Given the description of an element on the screen output the (x, y) to click on. 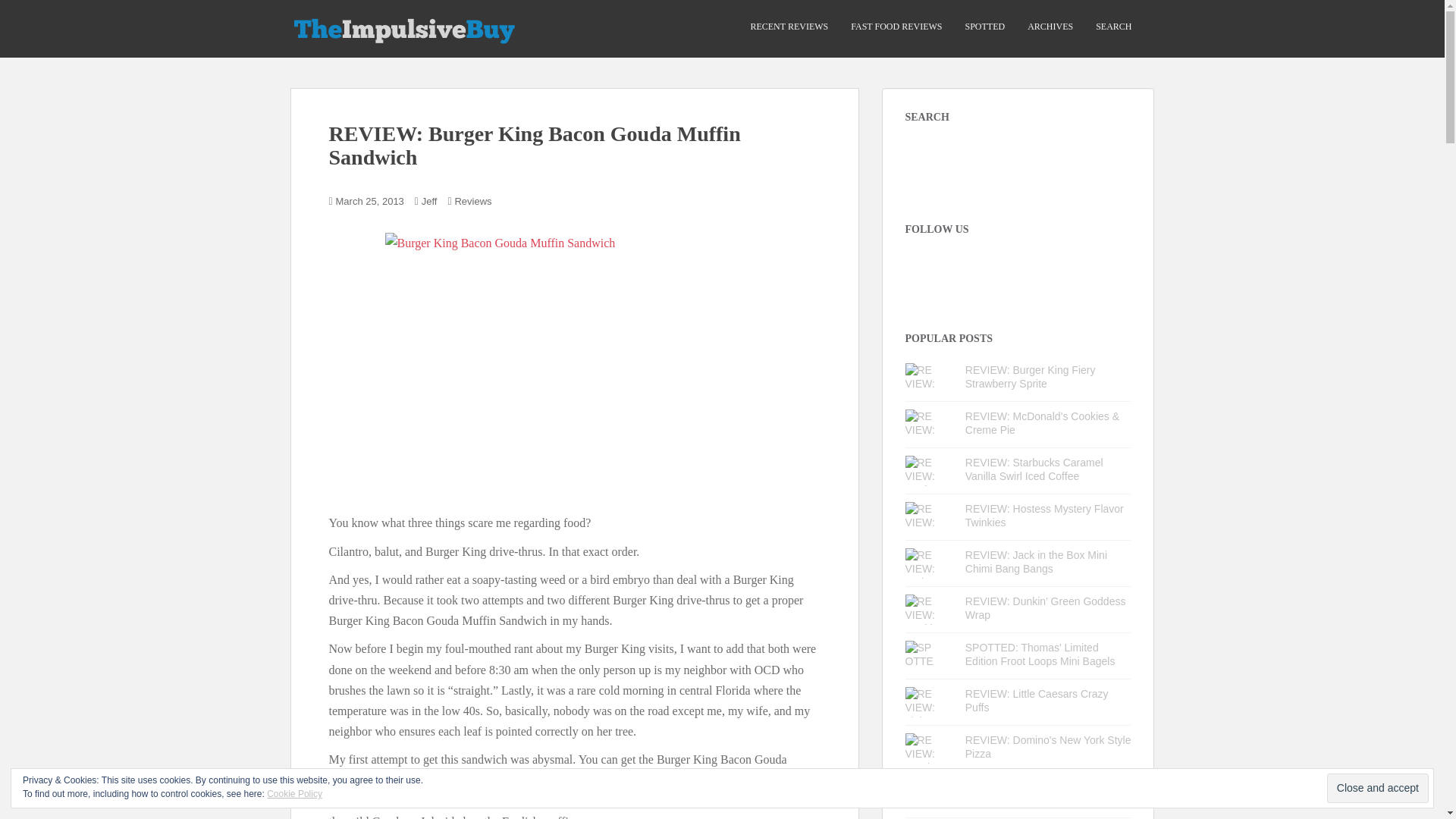
Burger King Bacon Gouda Muffin Sandwich (574, 368)
Reviews (473, 201)
FAST FOOD REVIEWS (896, 26)
RECENT REVIEWS (788, 26)
ARCHIVES (1050, 26)
SEARCH (1113, 26)
SPOTTED (983, 26)
March 25, 2013 (370, 201)
Jeff (430, 201)
Close and accept (1377, 788)
